Given the description of an element on the screen output the (x, y) to click on. 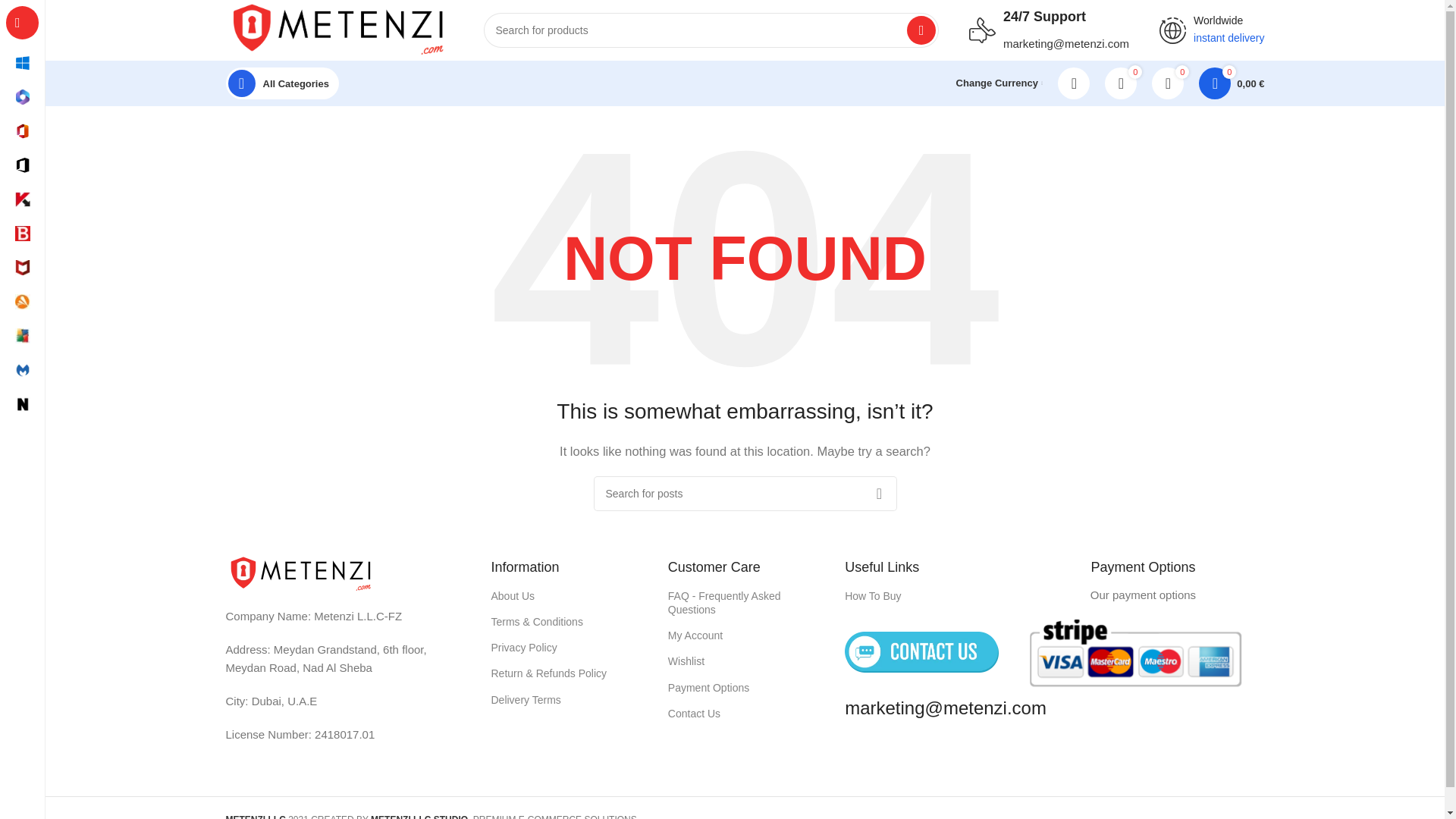
My account (1073, 82)
Search (921, 30)
My Wishlist (1167, 82)
Search for posts (744, 493)
About Us (568, 596)
support (982, 29)
My Account (745, 635)
0 (1167, 82)
Compare products (1120, 82)
Delivery Terms (568, 699)
0 (1120, 82)
Shopping cart (1231, 82)
About Us (568, 596)
All Categories (282, 82)
Payment Options (745, 687)
